Given the description of an element on the screen output the (x, y) to click on. 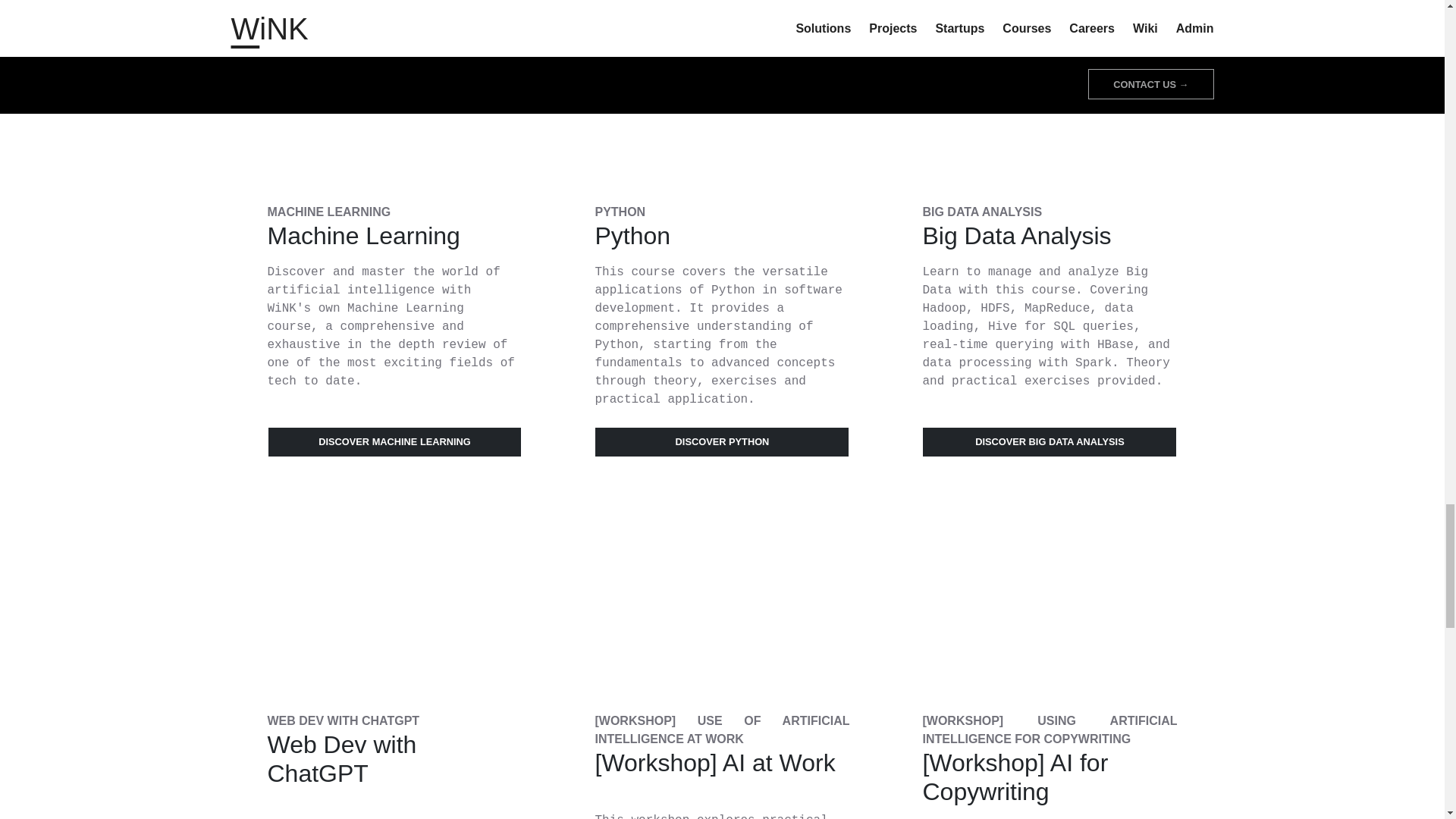
DISCOVER MACHINE LEARNING (393, 441)
DISCOVER PYTHON (721, 441)
DISCOVER BIG DATA ANALYSIS (1048, 441)
